Given the description of an element on the screen output the (x, y) to click on. 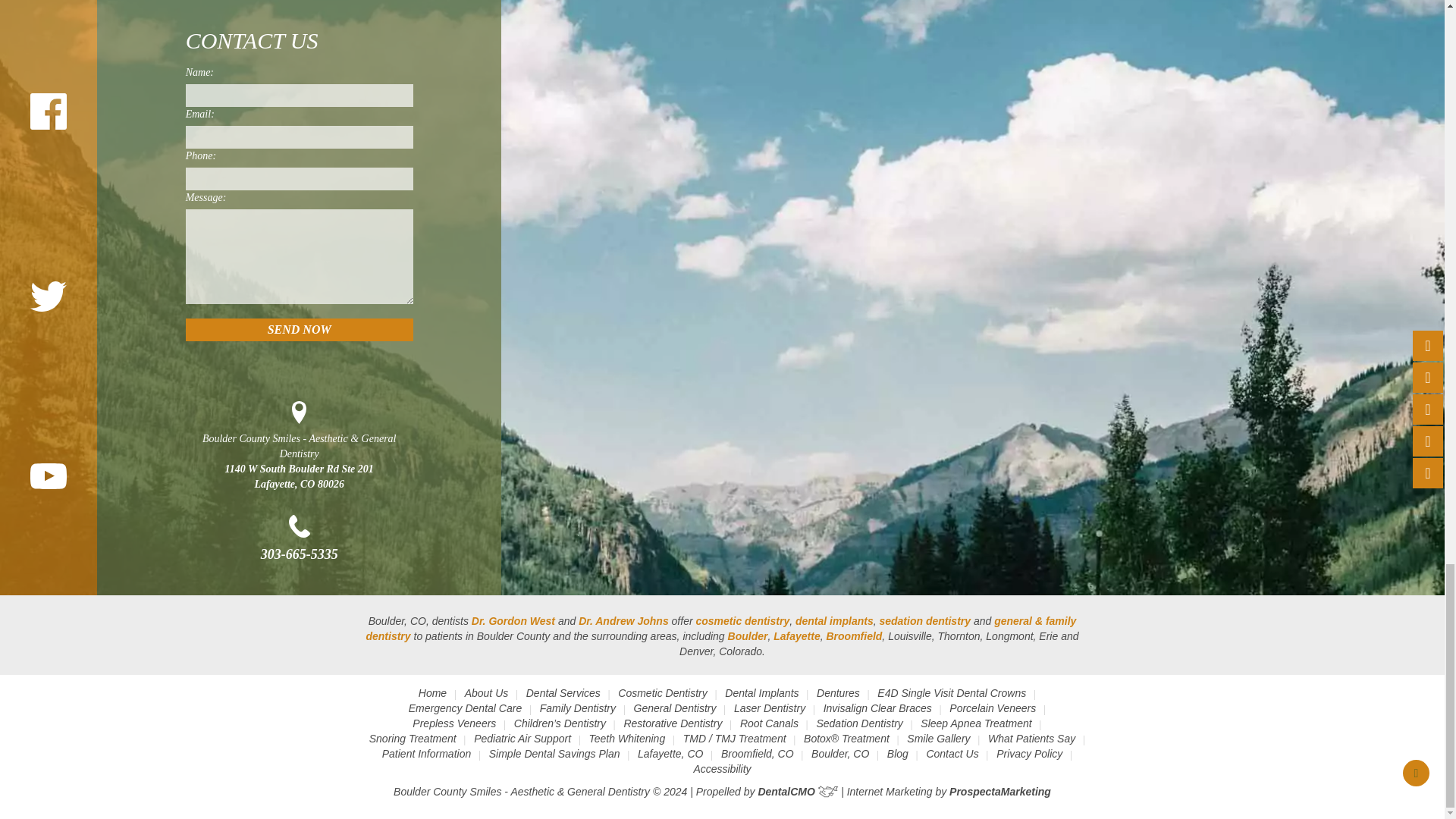
Internet Dental Marketing (1000, 791)
Follow Us on Facebook (48, 111)
Send Now (299, 329)
Follow Us on Twitter (48, 296)
Follow Us on YouTube (48, 475)
